Given the description of an element on the screen output the (x, y) to click on. 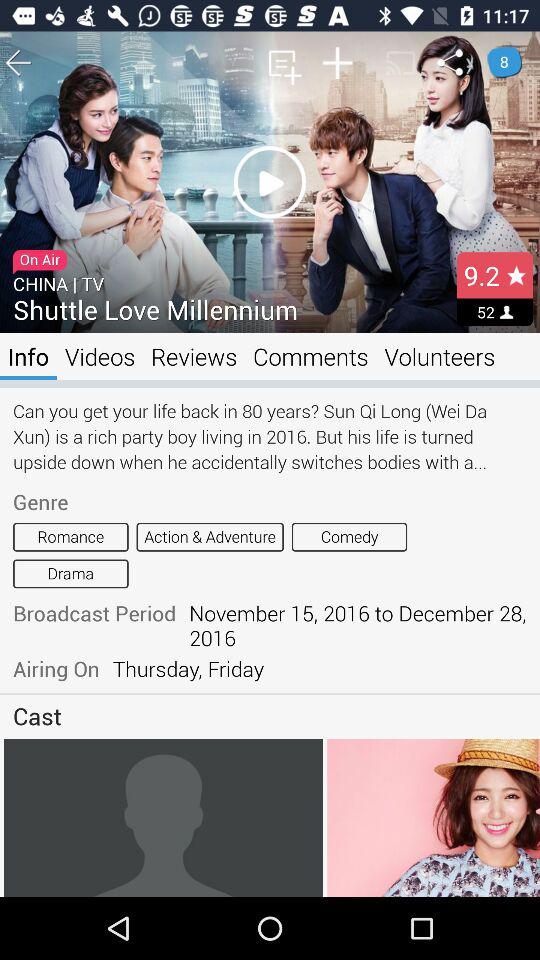
scroll until comments icon (310, 356)
